Given the description of an element on the screen output the (x, y) to click on. 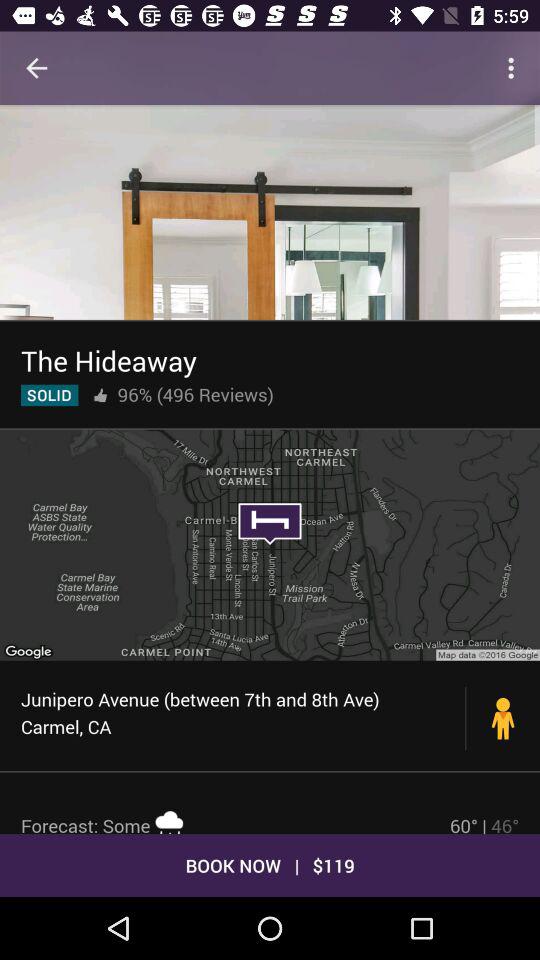
open the item to the right of the forecast: some   icon (484, 823)
